Given the description of an element on the screen output the (x, y) to click on. 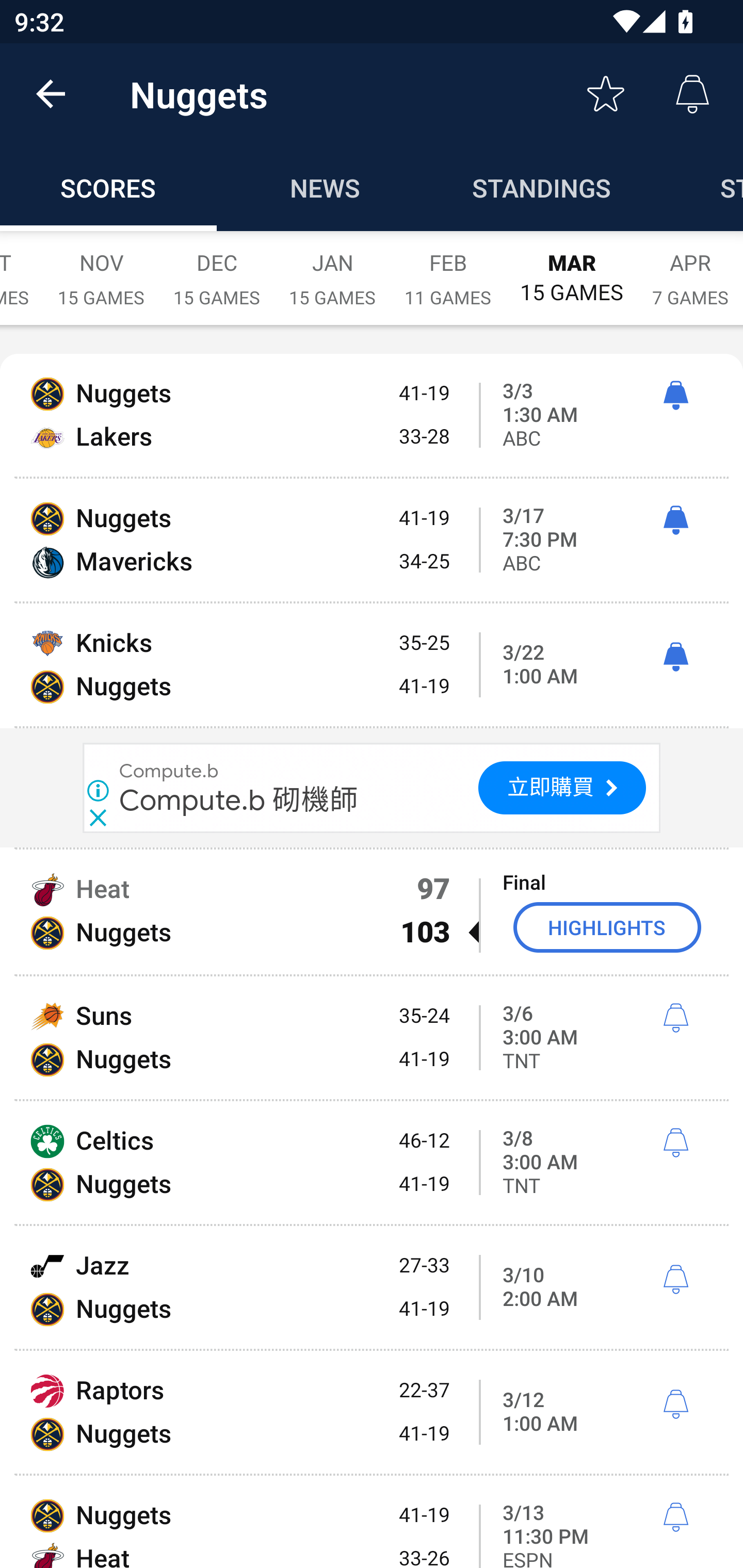
back.button (50, 93)
Favorite toggle (605, 93)
Alerts (692, 93)
News NEWS (324, 187)
Standings STANDINGS (541, 187)
NOV 15 GAMES (101, 268)
DEC 15 GAMES (216, 268)
JAN 15 GAMES (332, 268)
FEB 11 GAMES (447, 268)
MAR 15 GAMES (571, 267)
APR 7 GAMES (690, 268)
Nuggets 41-19 Lakers 33-28 3/3 1:30 AM ì ABC (371, 415)
ì (675, 395)
Nuggets 41-19 Mavericks 34-25 3/17 7:30 PM ì ABC (371, 540)
ì (675, 520)
Knicks 35-25 Nuggets 41-19 3/22 1:00 AM ì (371, 664)
ì (675, 657)
Compute.b (168, 770)
立即購買 (561, 787)
Compute.b 砌機師 (238, 799)
Heat 97 Final Nuggets 103  HIGHLIGHTS (371, 911)
HIGHLIGHTS (607, 927)
Suns 35-24 Nuggets 41-19 3/6 3:00 AM í TNT (371, 1037)
í (675, 1017)
Celtics 46-12 Nuggets 41-19 3/8 3:00 AM í TNT (371, 1162)
í (675, 1142)
Jazz 27-33 Nuggets 41-19 3/10 2:00 AM í (371, 1287)
í (675, 1279)
Raptors 22-37 Nuggets 41-19 3/12 1:00 AM í (371, 1412)
í (675, 1404)
Nuggets 41-19 Heat 33-26 3/13 11:30 PM í ESPN (371, 1521)
í (675, 1517)
